Given the description of an element on the screen output the (x, y) to click on. 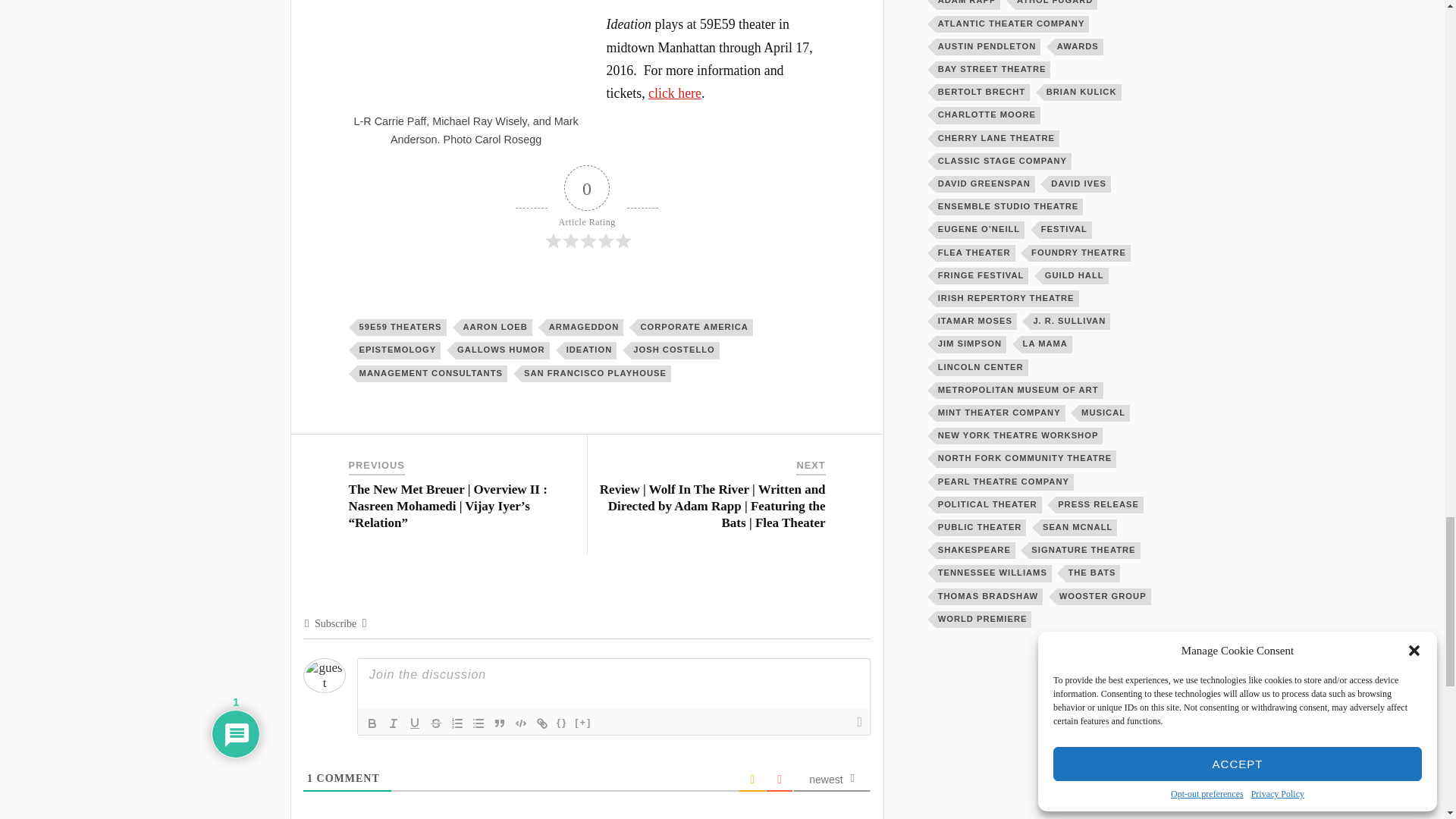
Code Block (521, 723)
AARON LOEB (496, 327)
ARMAGEDDON (585, 327)
Ordered List (456, 723)
Bold (371, 723)
Unordered List (478, 723)
Link (542, 723)
Blockquote (500, 723)
click here (674, 92)
Strike (435, 723)
Spoiler (582, 723)
Source Code (561, 723)
59E59 THEATERS (401, 327)
Underline (414, 723)
CORPORATE AMERICA (694, 327)
